Given the description of an element on the screen output the (x, y) to click on. 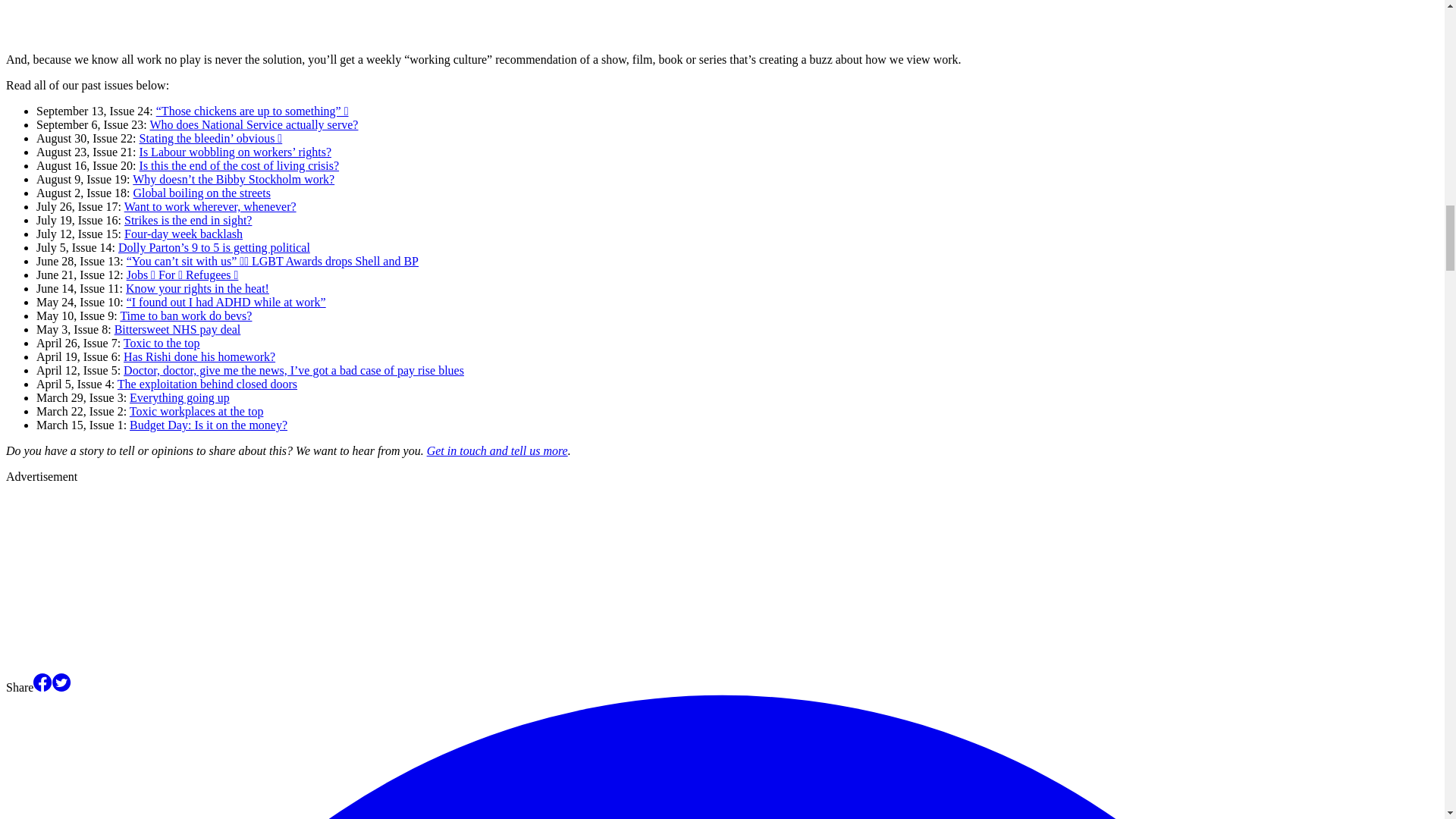
Know your rights in the heat! (197, 287)
Want to work wherever, whenever? (210, 205)
Who does National Service actually serve? (253, 124)
Bittersweet NHS pay deal (178, 328)
Time to ban work do bevs? (185, 315)
Everything going up (179, 397)
Has Rishi done his homework? (199, 356)
Four-day week backlash (183, 233)
Global boiling on the streets (201, 192)
The exploitation behind closed doors (207, 383)
Is this the end of the cost of living crisis? (239, 164)
Toxic to the top (161, 342)
Strikes is the end in sight? (187, 219)
Toxic workplaces at the top (196, 410)
